Given the description of an element on the screen output the (x, y) to click on. 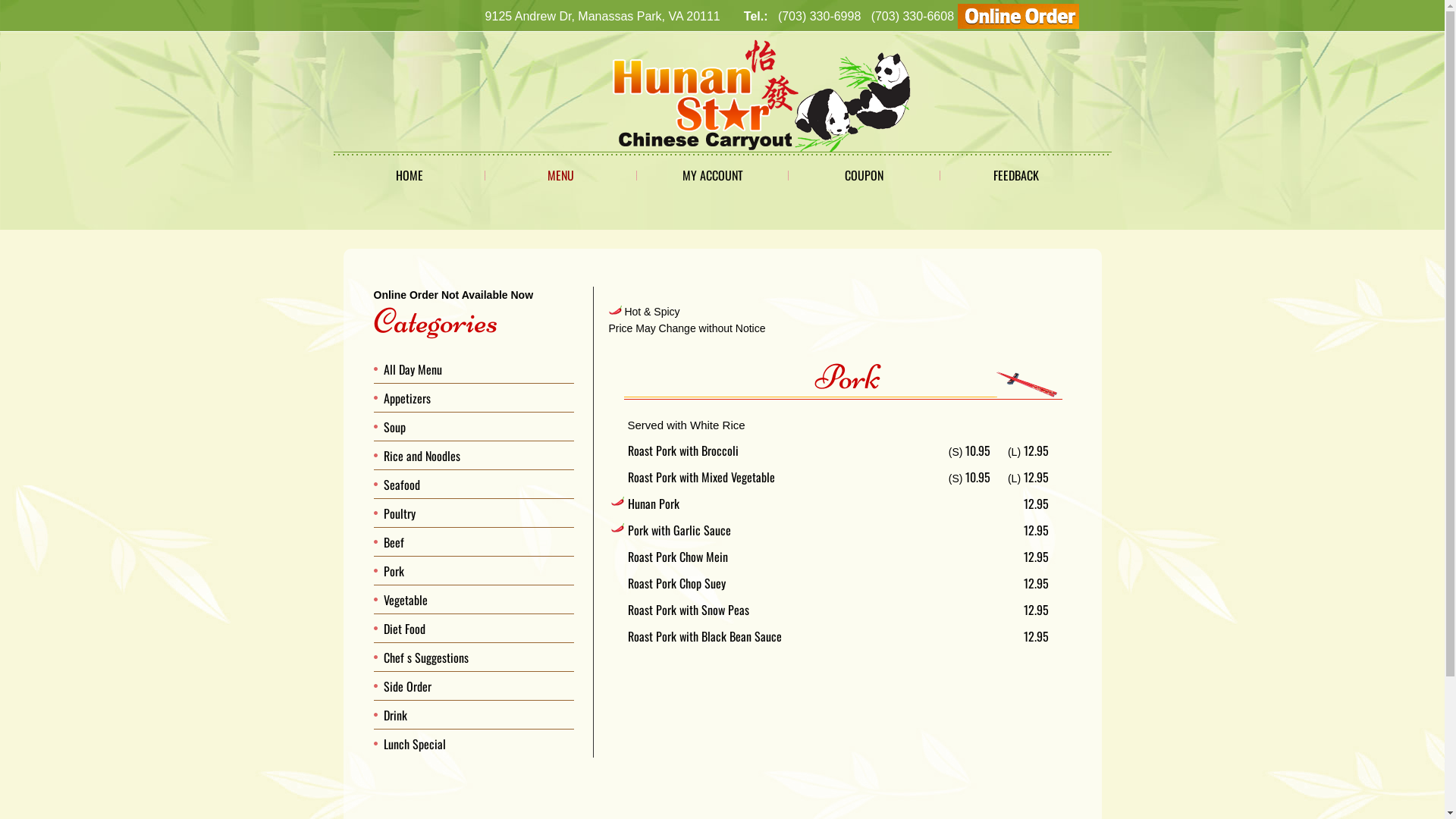
Beef Element type: text (393, 542)
Appetizers Element type: text (406, 398)
MY ACCOUNT Element type: text (712, 175)
Drink Element type: text (395, 715)
Chef s Suggestions Element type: text (425, 657)
MENU Element type: text (561, 175)
Pork Element type: text (393, 570)
Seafood Element type: text (401, 484)
HOME Element type: text (409, 175)
Diet Food Element type: text (404, 628)
All Day Menu Element type: text (412, 369)
Poultry Element type: text (399, 513)
COUPON Element type: text (864, 175)
Soup Element type: text (394, 426)
Rice and Noodles Element type: text (421, 455)
Vegetable Element type: text (405, 599)
Side Order Element type: text (407, 686)
FEEDBACK Element type: text (1016, 175)
Lunch Special Element type: text (414, 743)
